Given the description of an element on the screen output the (x, y) to click on. 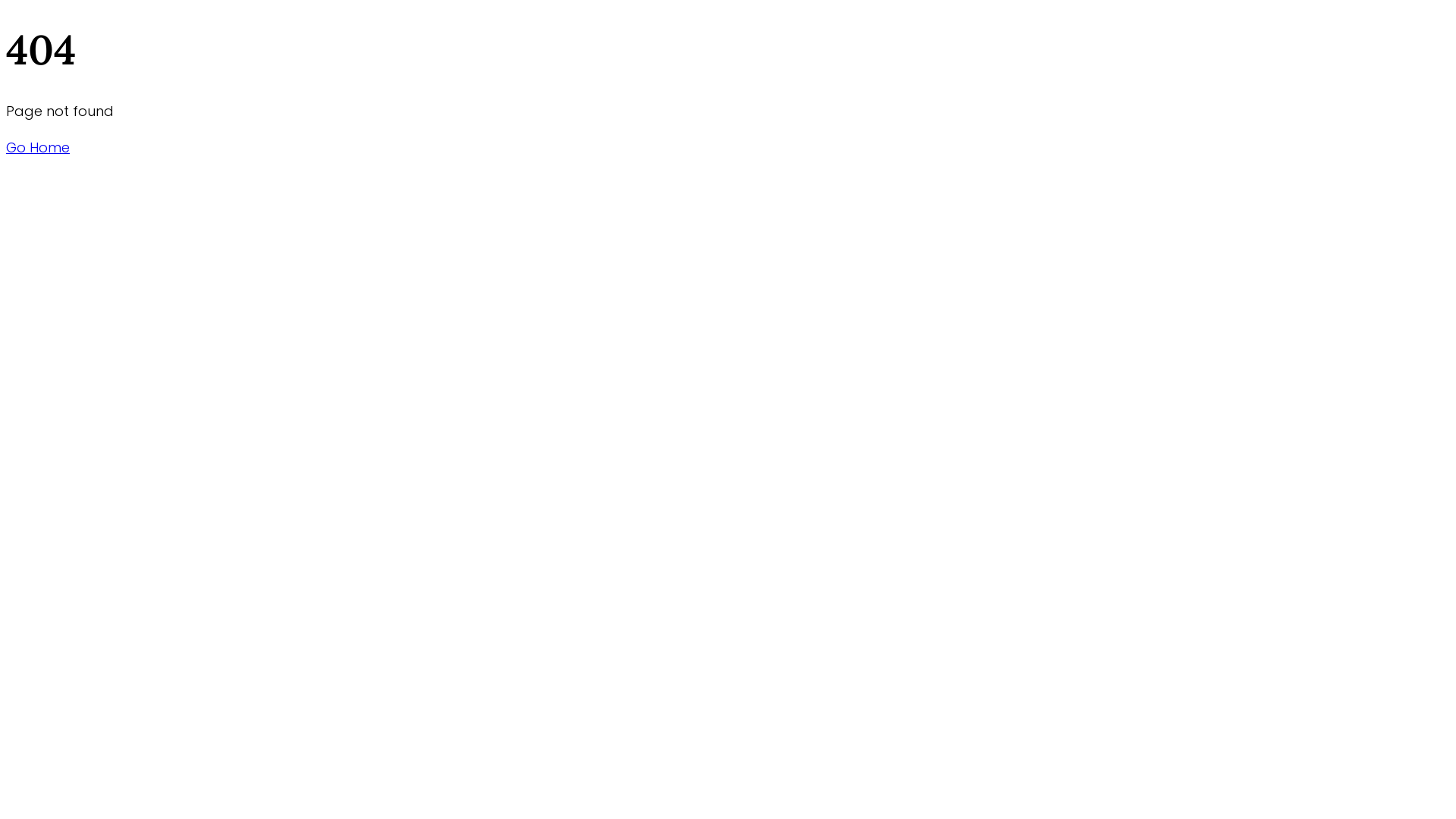
Go Home Element type: text (37, 147)
